Given the description of an element on the screen output the (x, y) to click on. 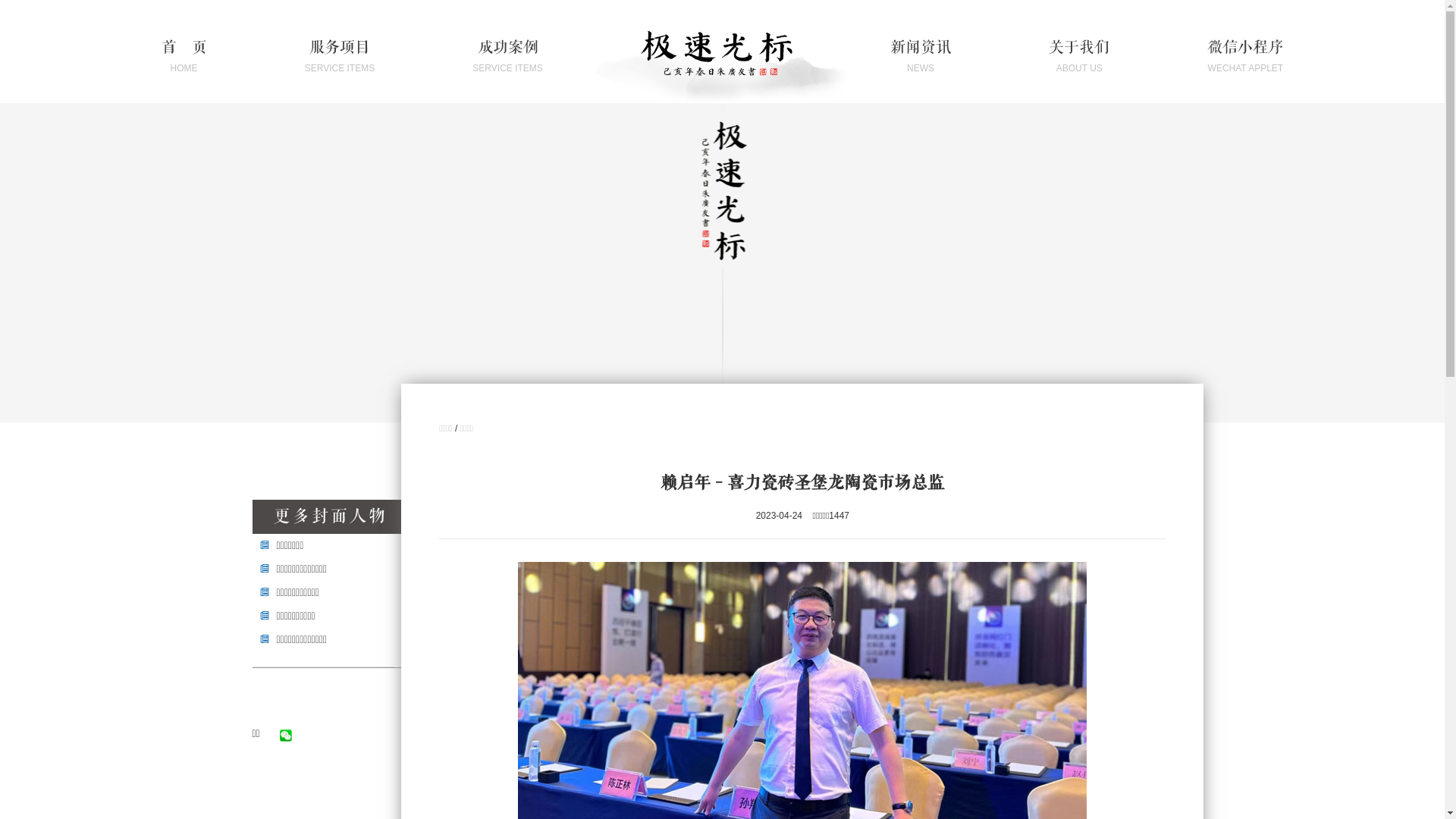
   Element type: text (272, 740)
   Element type: text (288, 741)
   Element type: text (276, 744)
